Given the description of an element on the screen output the (x, y) to click on. 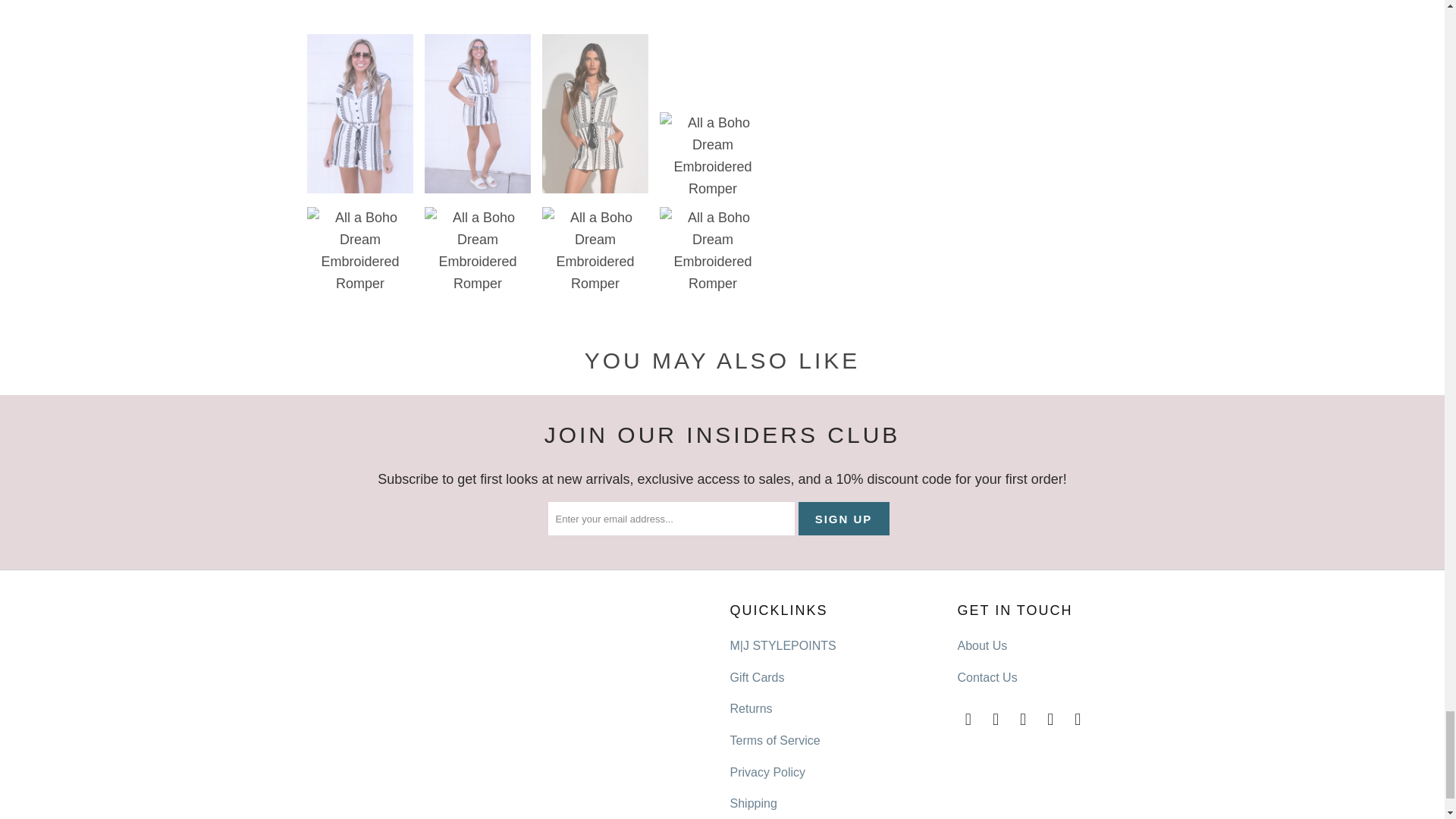
Email Makaila James (967, 719)
Makaila James on TikTok (1078, 719)
Makaila James on Pinterest (1050, 719)
Makaila James on Instagram (1023, 719)
Makaila James on Facebook (996, 719)
Sign Up (842, 518)
